Given the description of an element on the screen output the (x, y) to click on. 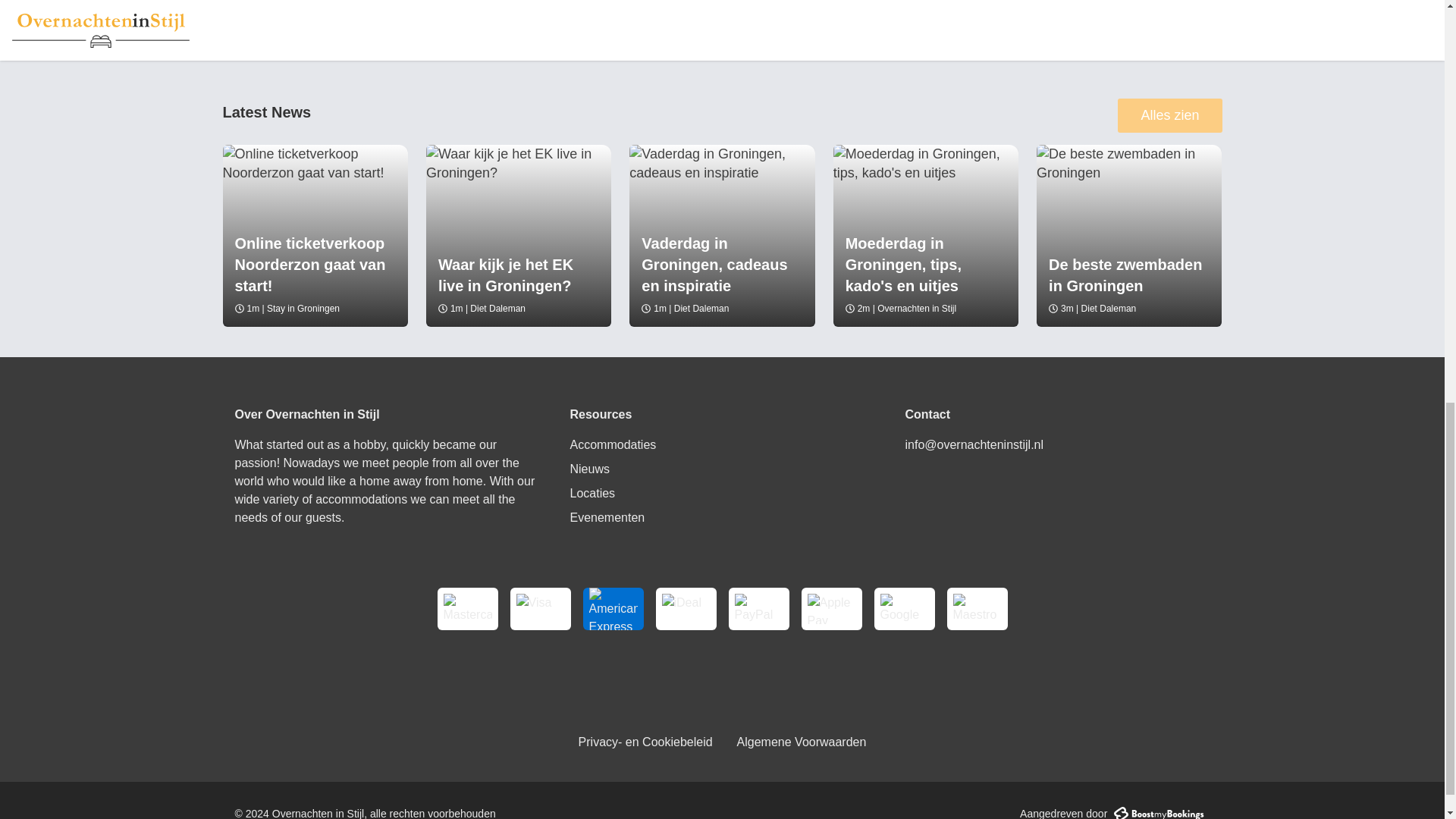
Algemene Voorwaarden (801, 741)
Aangedreven door (1114, 812)
Locaties (592, 492)
Evenementen (607, 517)
Alles zien (1169, 115)
Nieuws (590, 468)
Privacy- en Cookiebeleid (645, 741)
Accommodaties (613, 444)
